Given the description of an element on the screen output the (x, y) to click on. 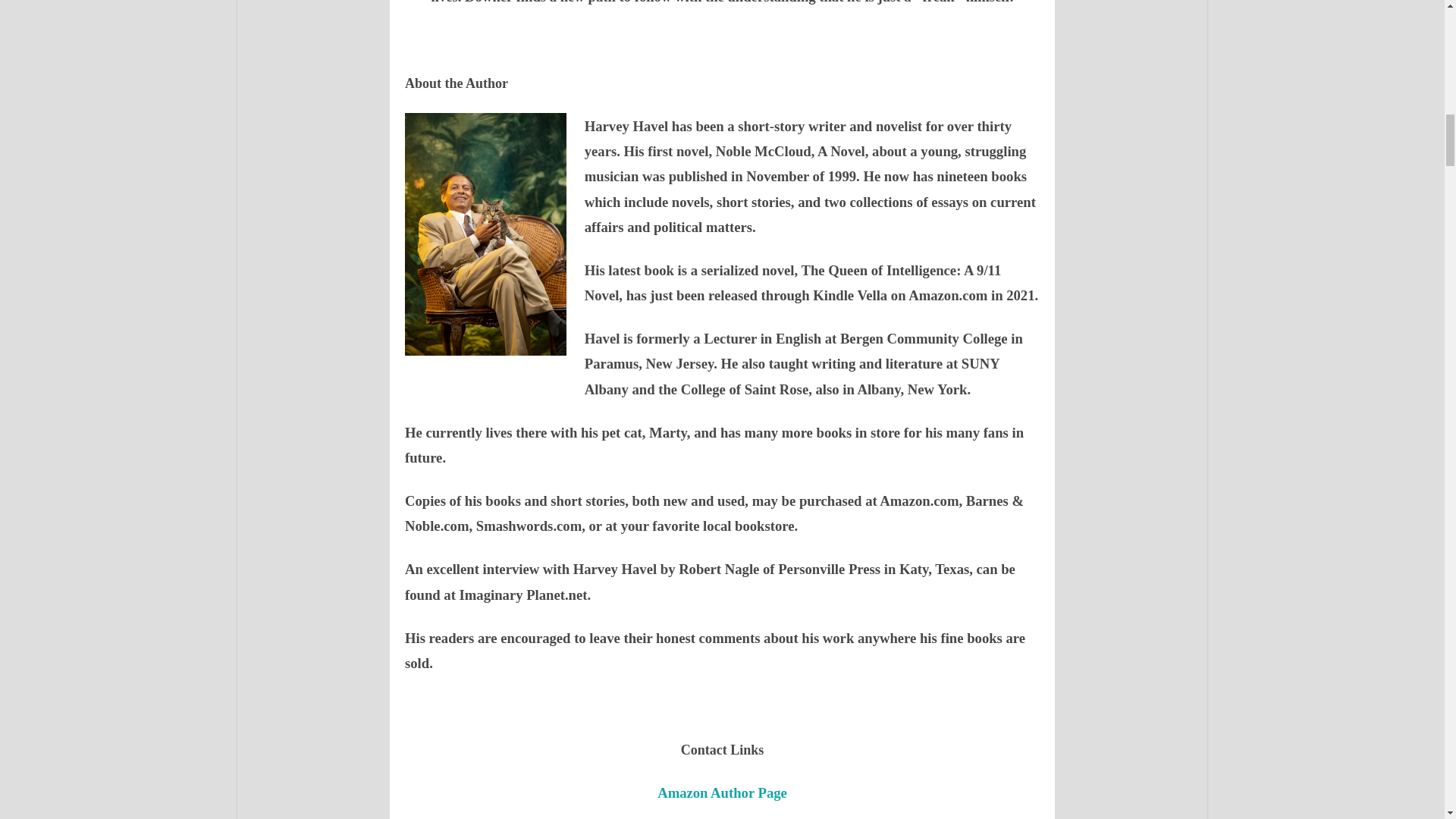
Amazon Author Page (722, 792)
